Given the description of an element on the screen output the (x, y) to click on. 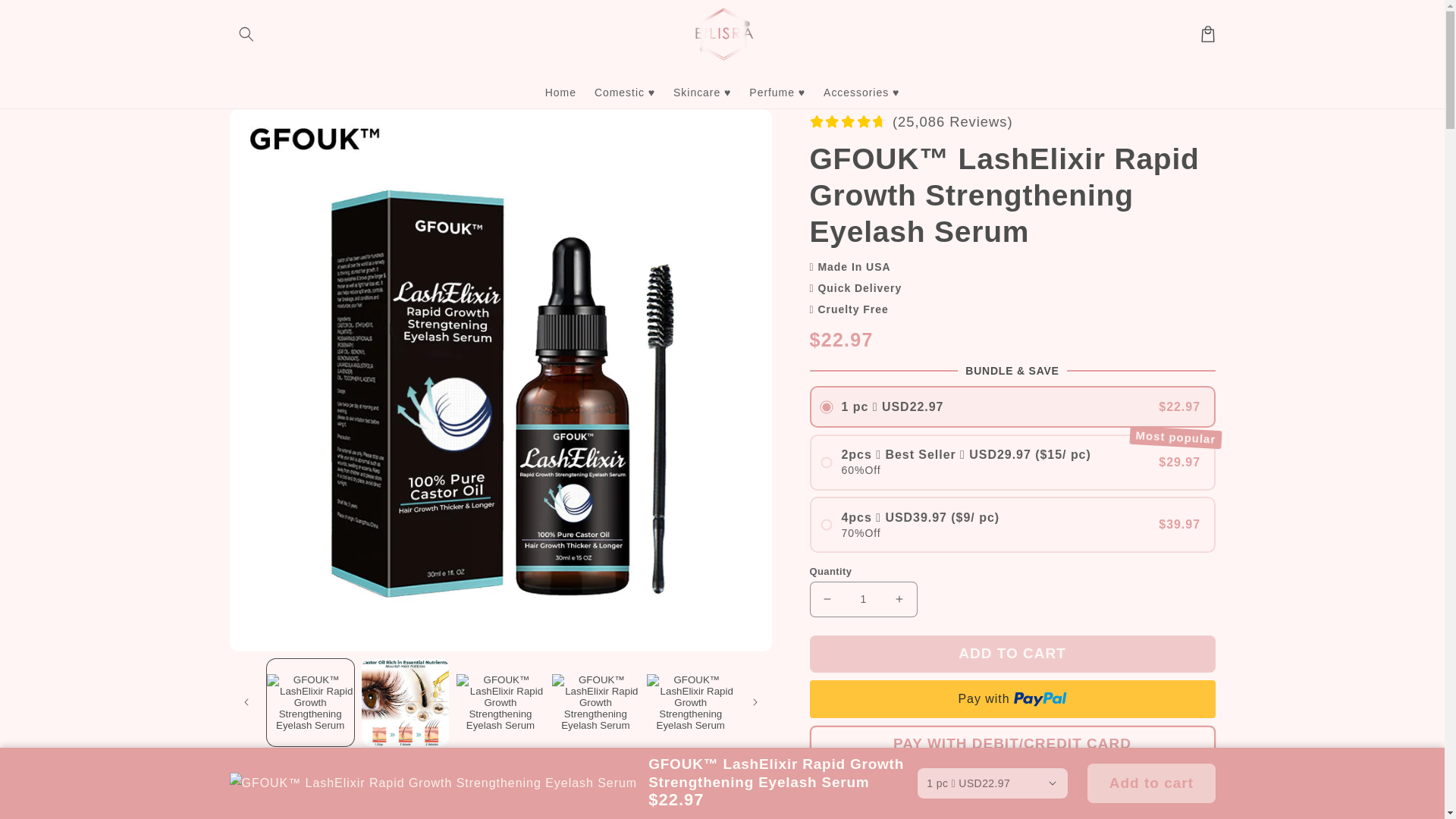
Home (560, 91)
Skip to product information (275, 126)
Skip to content (46, 18)
1 (863, 599)
Cart (1207, 33)
